Given the description of an element on the screen output the (x, y) to click on. 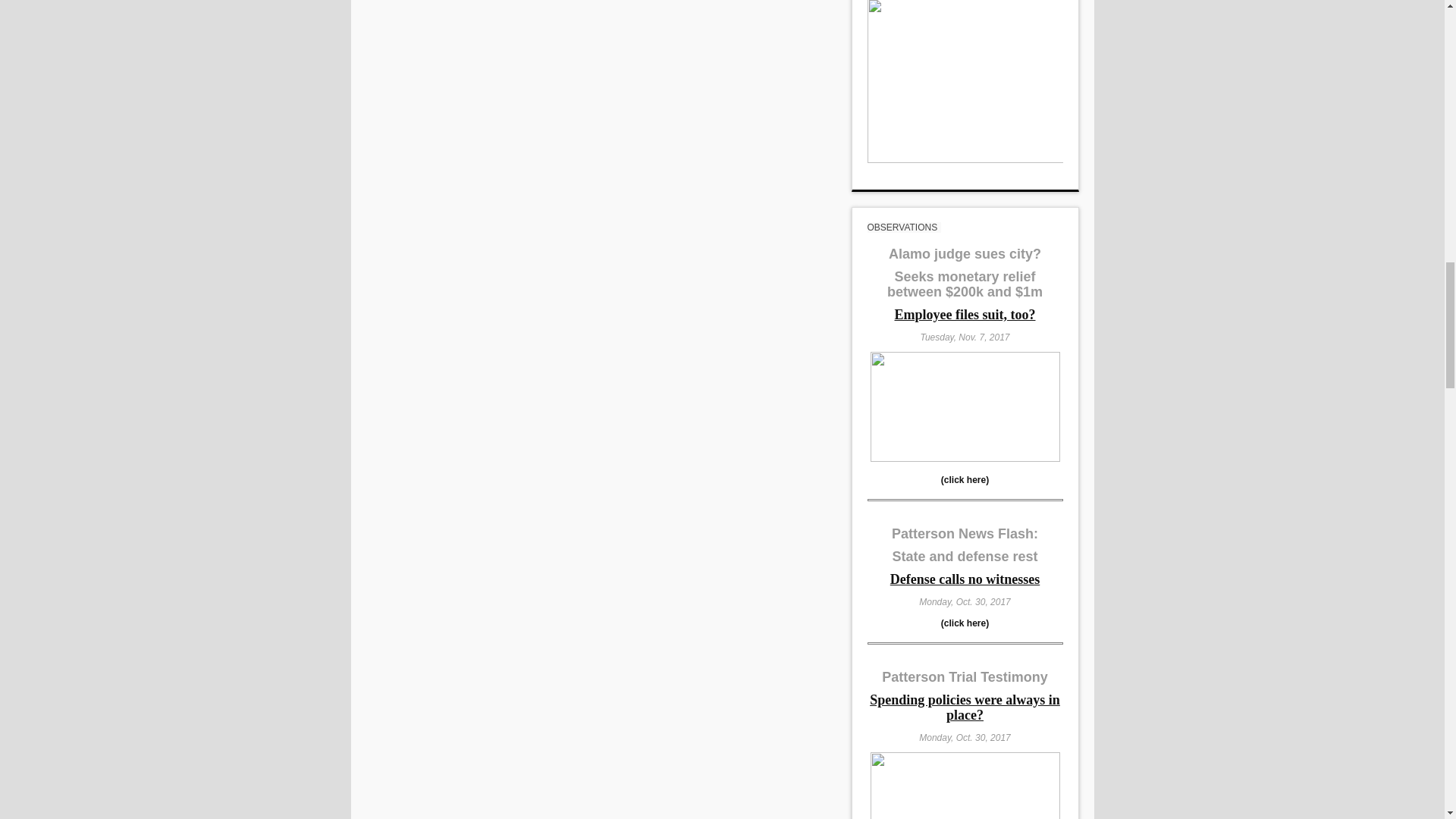
Defense calls no witnesses (964, 580)
Employee files suit, too? (965, 316)
Spending policies were always in place? (964, 708)
